Given the description of an element on the screen output the (x, y) to click on. 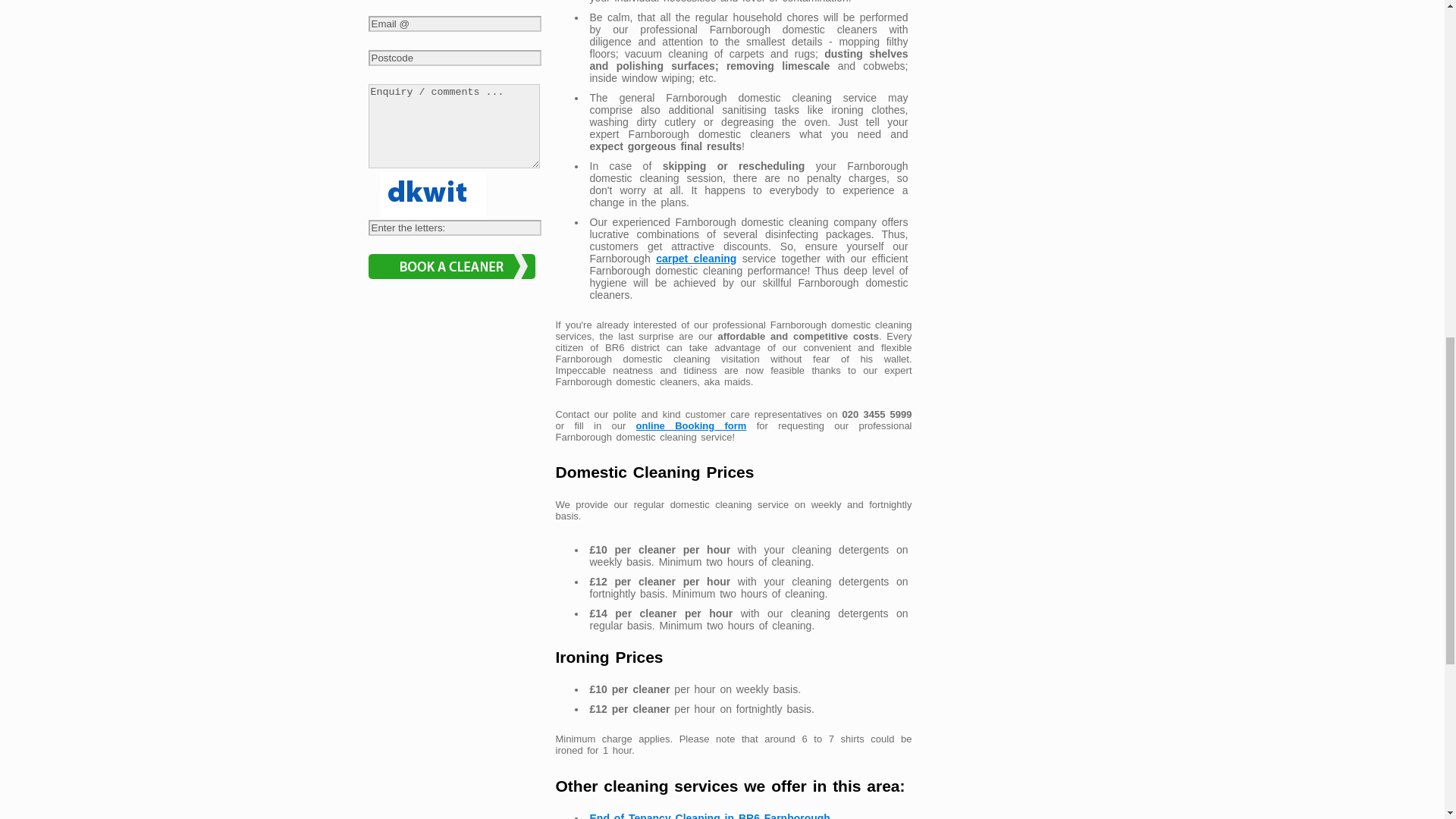
End of Tenancy Cleaning in BR6 Farnborough (709, 815)
Enter the letters: (454, 227)
online Booking form (691, 425)
Postcode (454, 57)
carpet cleaning (696, 258)
